Given the description of an element on the screen output the (x, y) to click on. 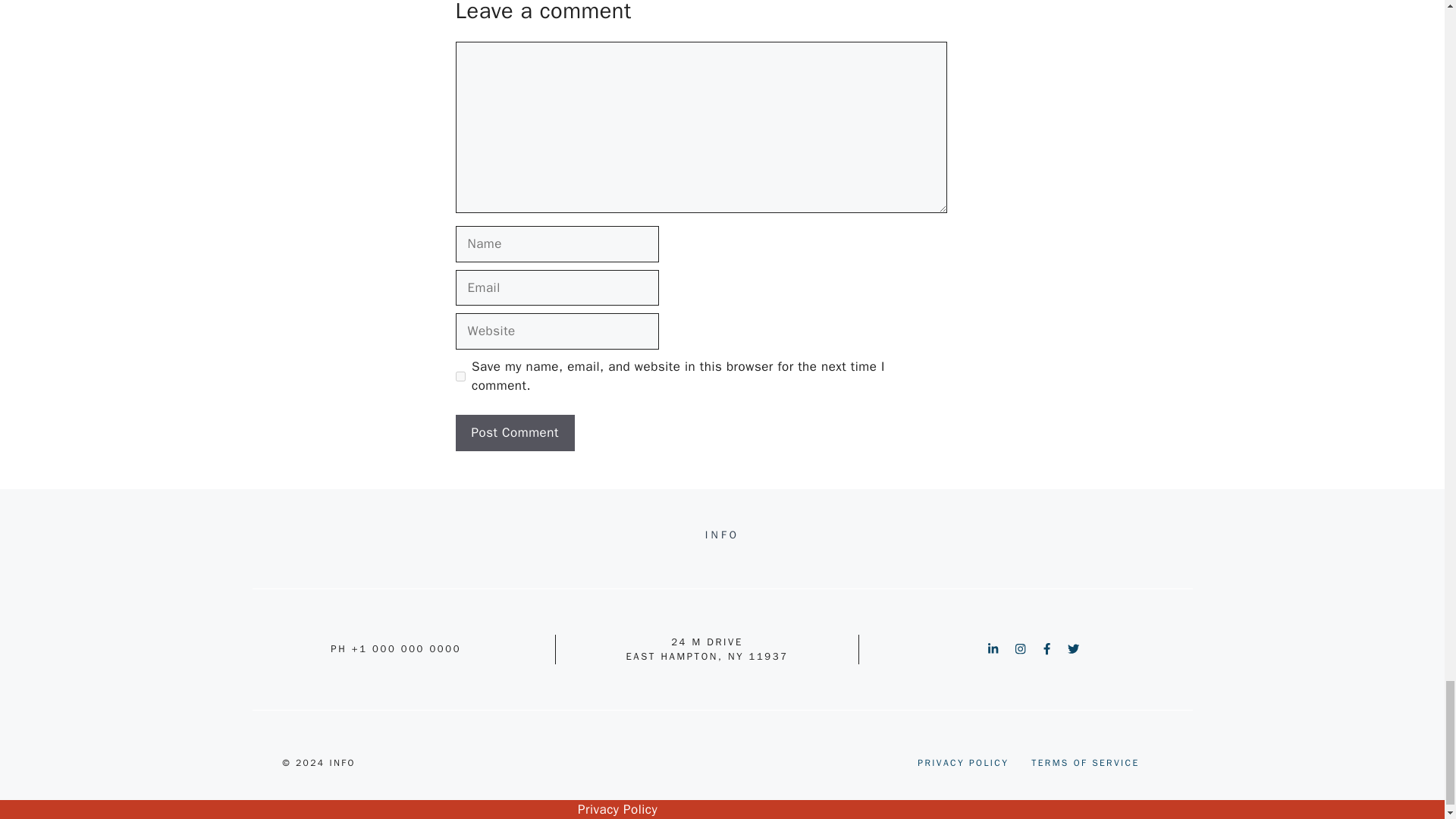
Privacy Policy (618, 809)
PRIVACY POLICY (963, 762)
yes (459, 376)
Post Comment (513, 432)
Post Comment (513, 432)
TERMS OF SERVICE (1084, 762)
